Given the description of an element on the screen output the (x, y) to click on. 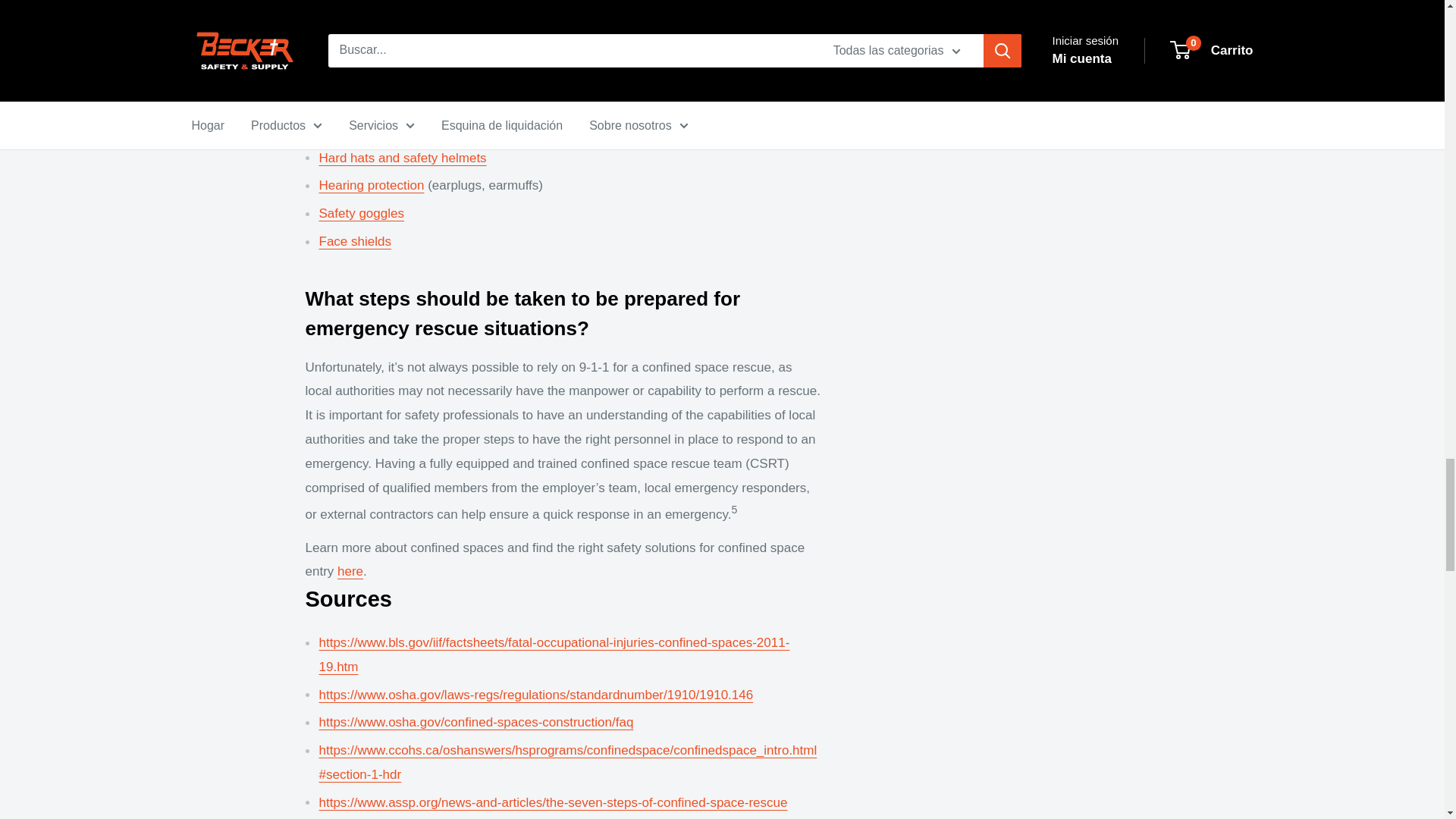
Eye Protection Collection (360, 213)
Head Protection Collection (402, 157)
Face Protection Collection (354, 241)
Hearing Protection Collection (370, 185)
